Given the description of an element on the screen output the (x, y) to click on. 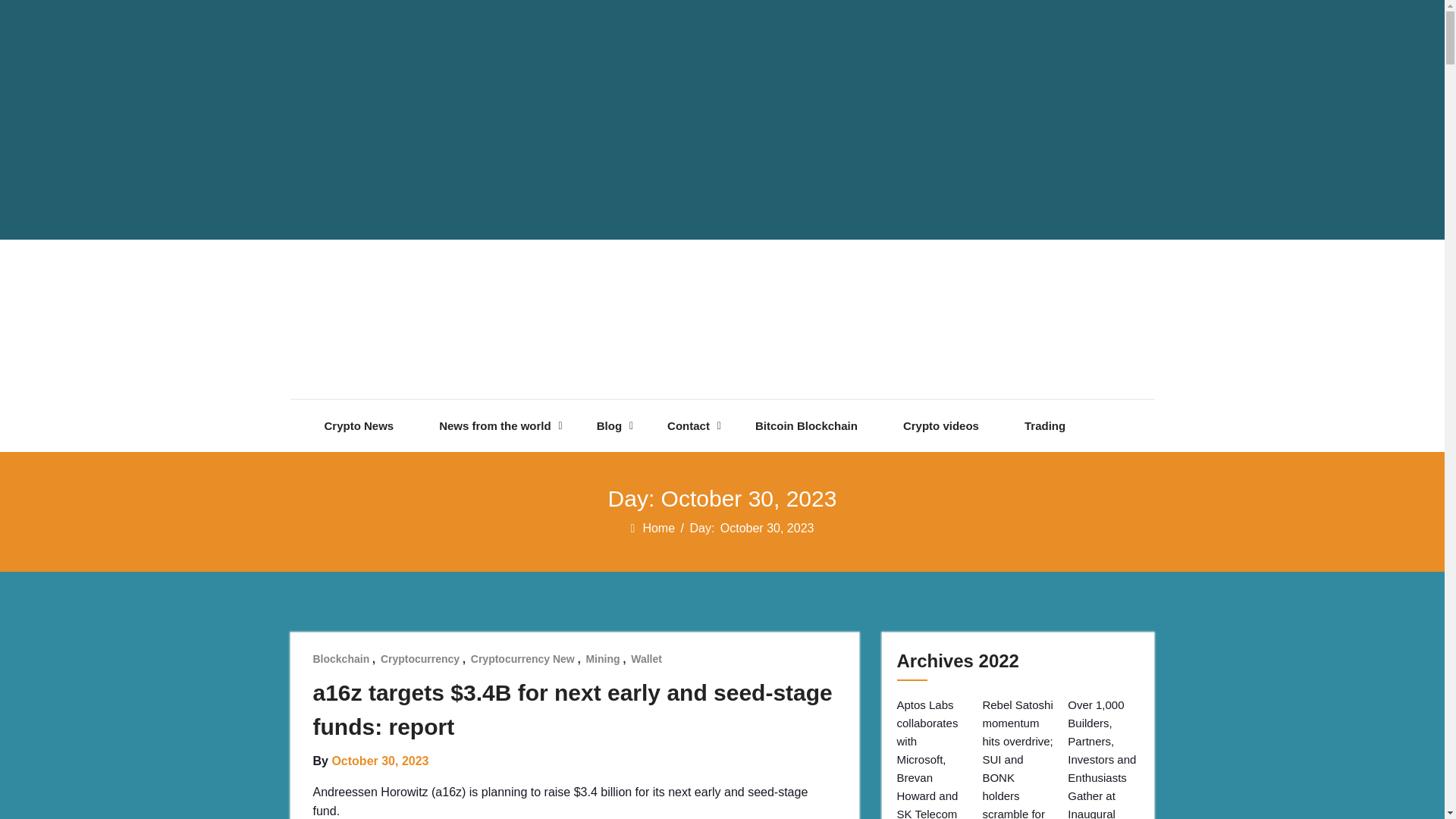
Home (659, 527)
Crypto videos (940, 425)
Mining (602, 658)
Wallet (646, 658)
Bitcoin Blockchain (806, 425)
Crypto News (359, 425)
News from the world (495, 425)
Blockchain (341, 658)
October 30, 2023 (379, 760)
Cryptocurrency (420, 658)
